Given the description of an element on the screen output the (x, y) to click on. 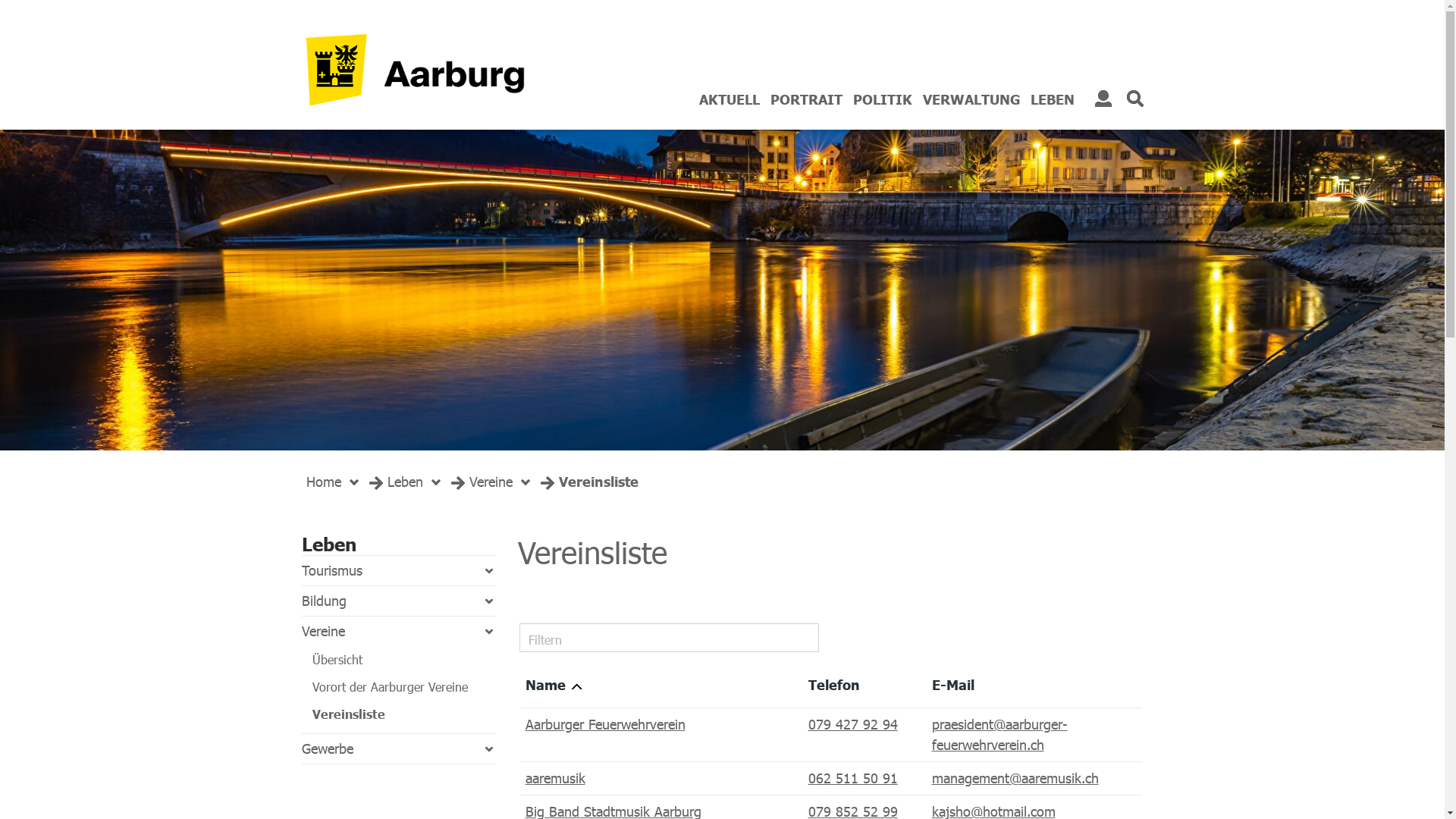
Aarburger Feuerwehrverein Element type: text (604, 723)
AKTUELL Element type: text (729, 110)
Leben Element type: text (404, 481)
PORTRAIT Element type: text (806, 110)
Vereine Element type: text (398, 631)
VERWALTUNG Element type: text (970, 110)
Vereinsliste Element type: text (597, 481)
Home Element type: text (323, 481)
Vorort der Aarburger Vereine Element type: text (391, 686)
Vereine Element type: text (489, 481)
Tourismus Element type: text (398, 570)
062 511 50 91 Element type: text (852, 777)
079 427 92 94 Element type: text (852, 723)
Login Element type: text (1103, 98)
LEBEN Element type: text (1051, 110)
praesident@aarburger-feuerwehrverein.ch Element type: text (999, 734)
Suche Element type: text (1134, 98)
zur Startseite Element type: text (30, 30)
POLITIK Element type: text (881, 110)
management@aaremusik.ch Element type: text (1014, 777)
aaremusik Element type: text (554, 777)
Bildung Element type: text (398, 600)
Gewerbe Element type: text (398, 748)
